Given the description of an element on the screen output the (x, y) to click on. 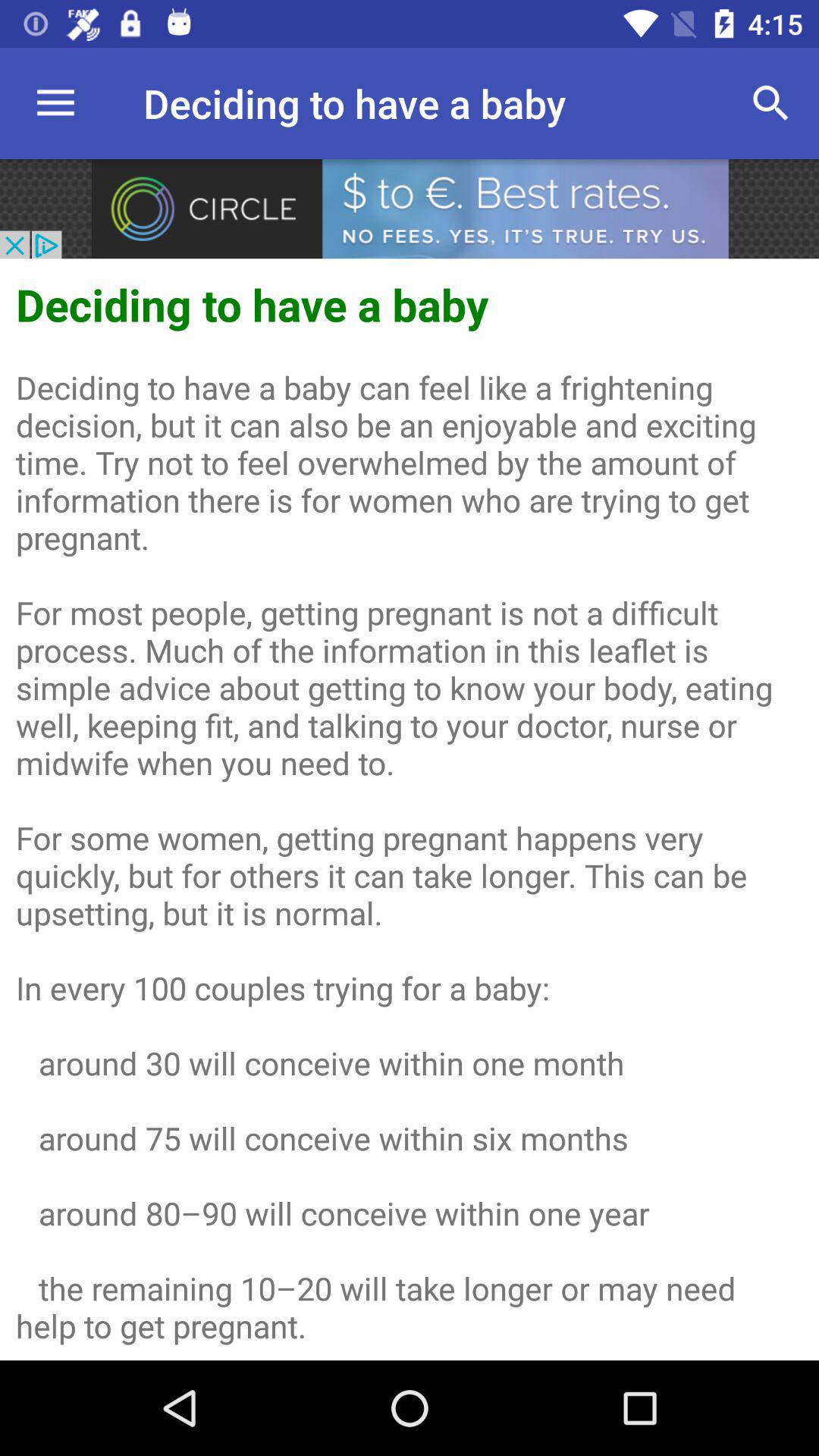
know about the advertisement (409, 208)
